Given the description of an element on the screen output the (x, y) to click on. 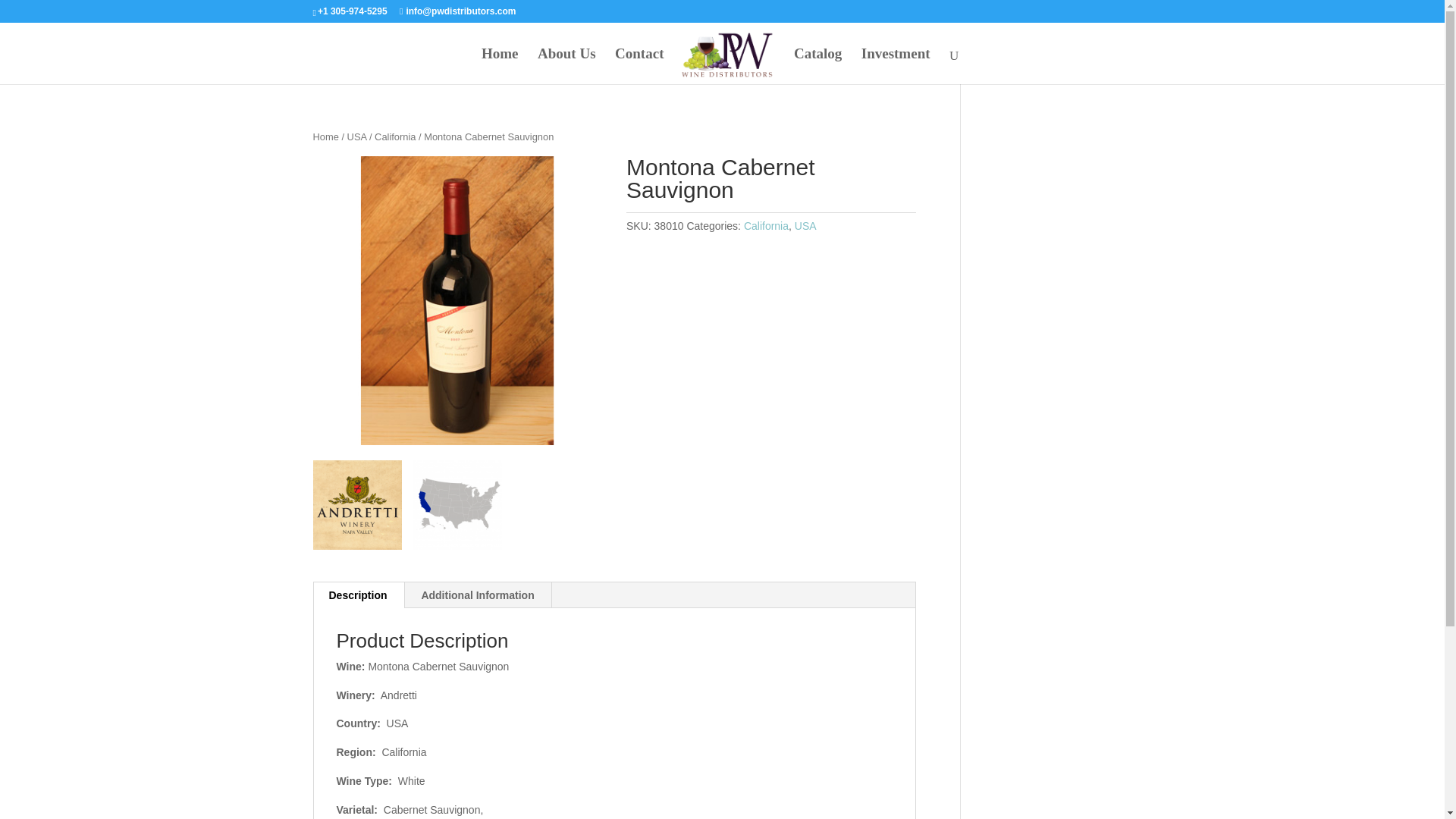
38010 (457, 300)
Contact (638, 66)
California (766, 225)
california (456, 504)
About Us (566, 66)
Home (499, 66)
USA (805, 225)
Investment (895, 66)
Description (358, 595)
California (394, 136)
